Given the description of an element on the screen output the (x, y) to click on. 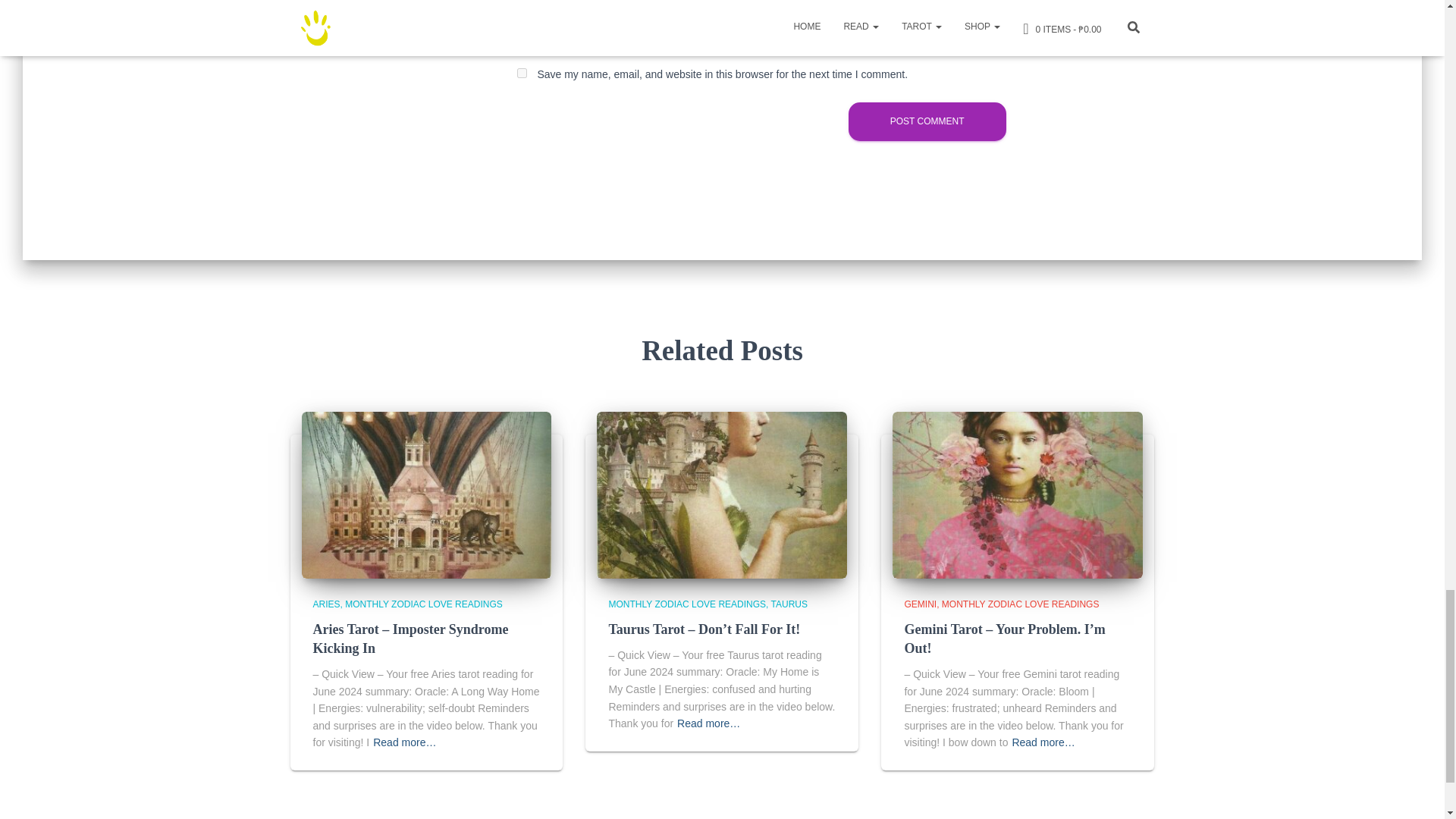
yes (521, 72)
ARIES (329, 603)
Post Comment (927, 121)
GEMINI (922, 603)
MONTHLY ZODIAC LOVE READINGS (423, 603)
Post Comment (927, 121)
TAURUS (789, 603)
MONTHLY ZODIAC LOVE READINGS (689, 603)
MONTHLY ZODIAC LOVE READINGS (1020, 603)
